Given the description of an element on the screen output the (x, y) to click on. 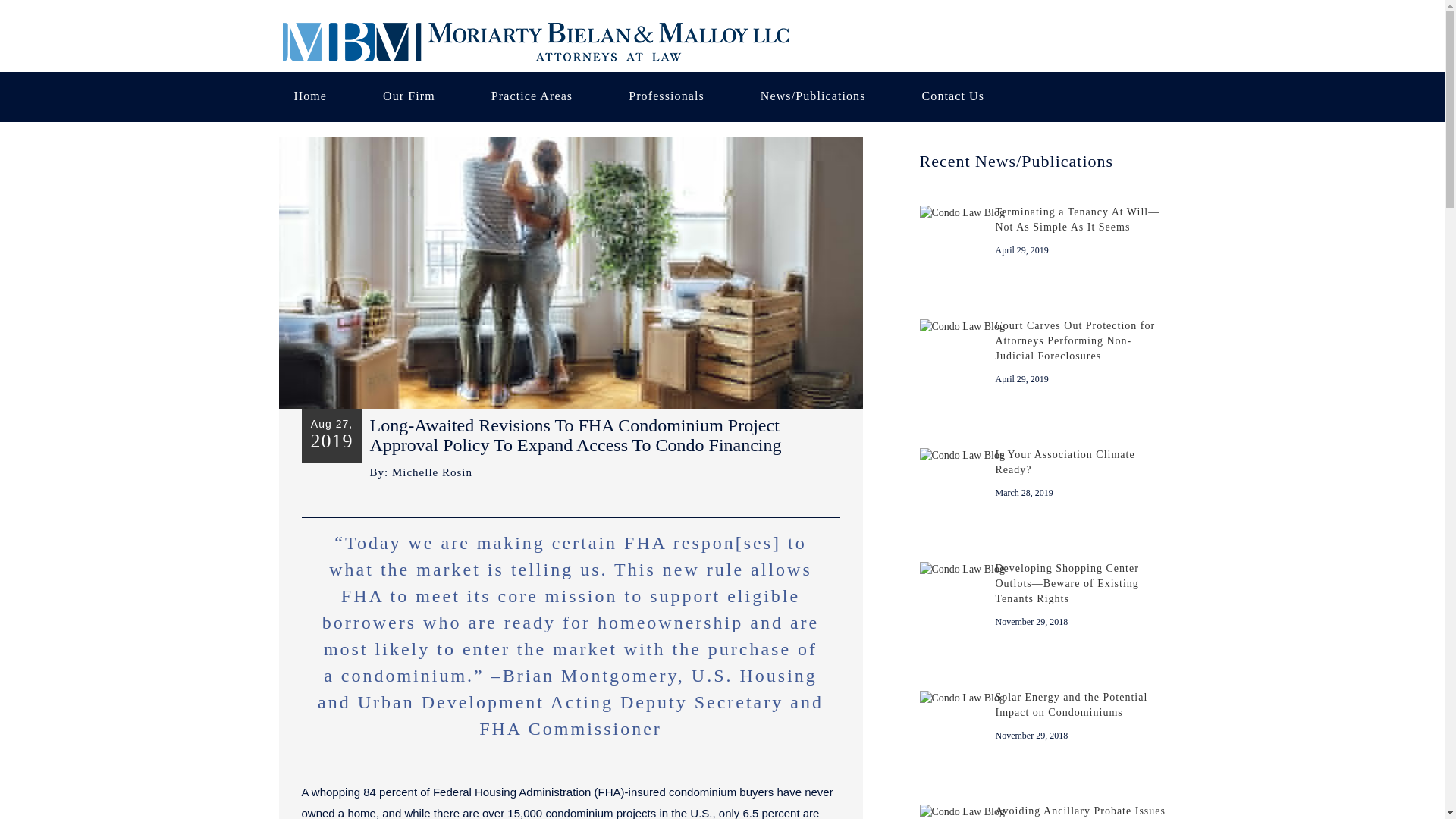
By: Michelle Rosin (421, 472)
Logo (536, 41)
Professionals (665, 97)
Home (310, 97)
Contact Us (953, 97)
Practice Areas (532, 97)
Our Firm (408, 97)
